Given the description of an element on the screen output the (x, y) to click on. 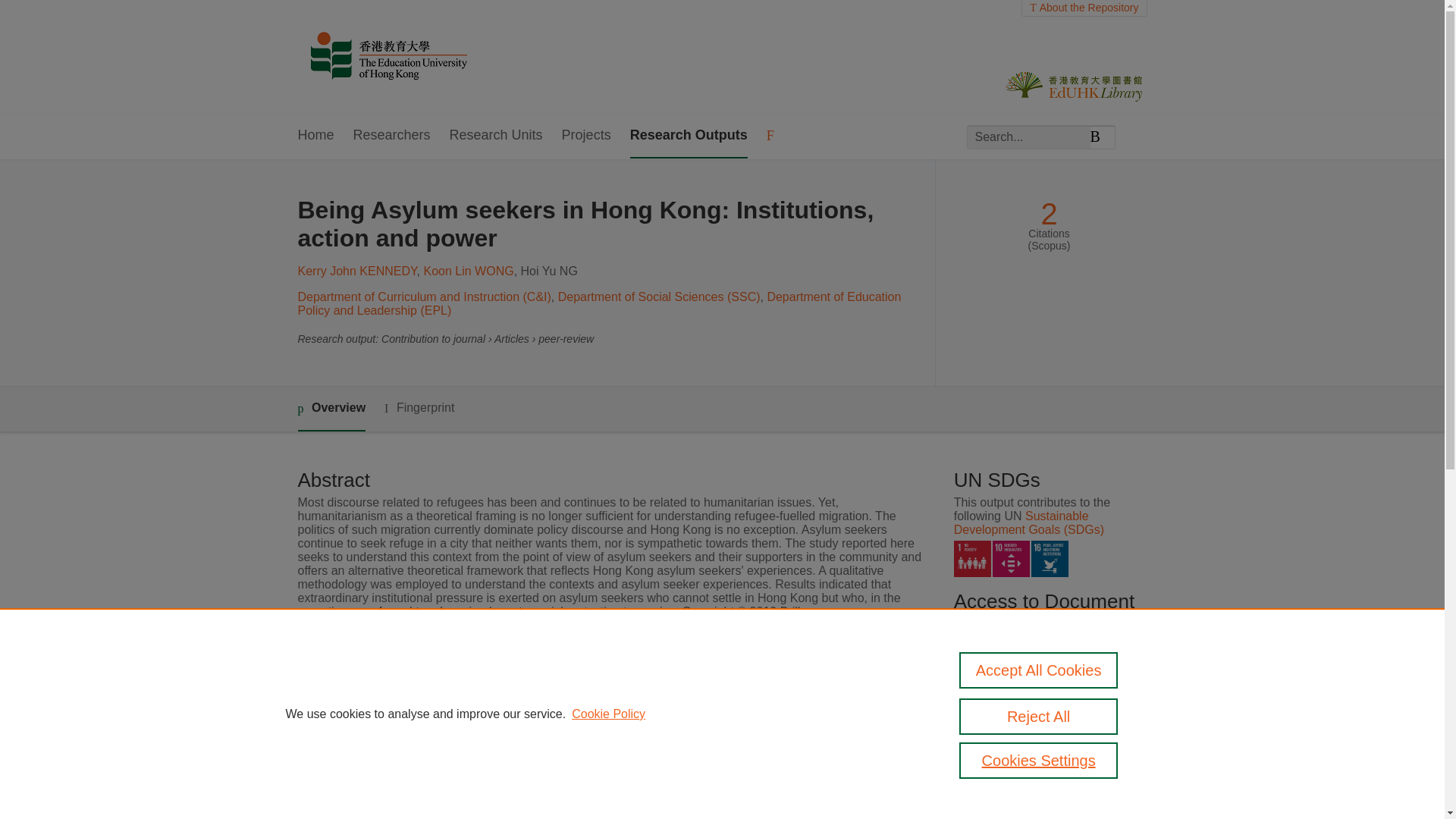
SDG 1 - No Poverty (972, 559)
Projects (586, 135)
EdUHK Research Repository Home (388, 56)
Researchers (391, 135)
SDG 10 - Reduced Inequalities (1010, 559)
Koon Lin WONG (468, 270)
Kerry John KENNEDY (356, 270)
Research Units (496, 135)
Link to publication in Scopus (1045, 683)
SDG 16 - Peace, Justice and Strong Institutions (1049, 559)
